Given the description of an element on the screen output the (x, y) to click on. 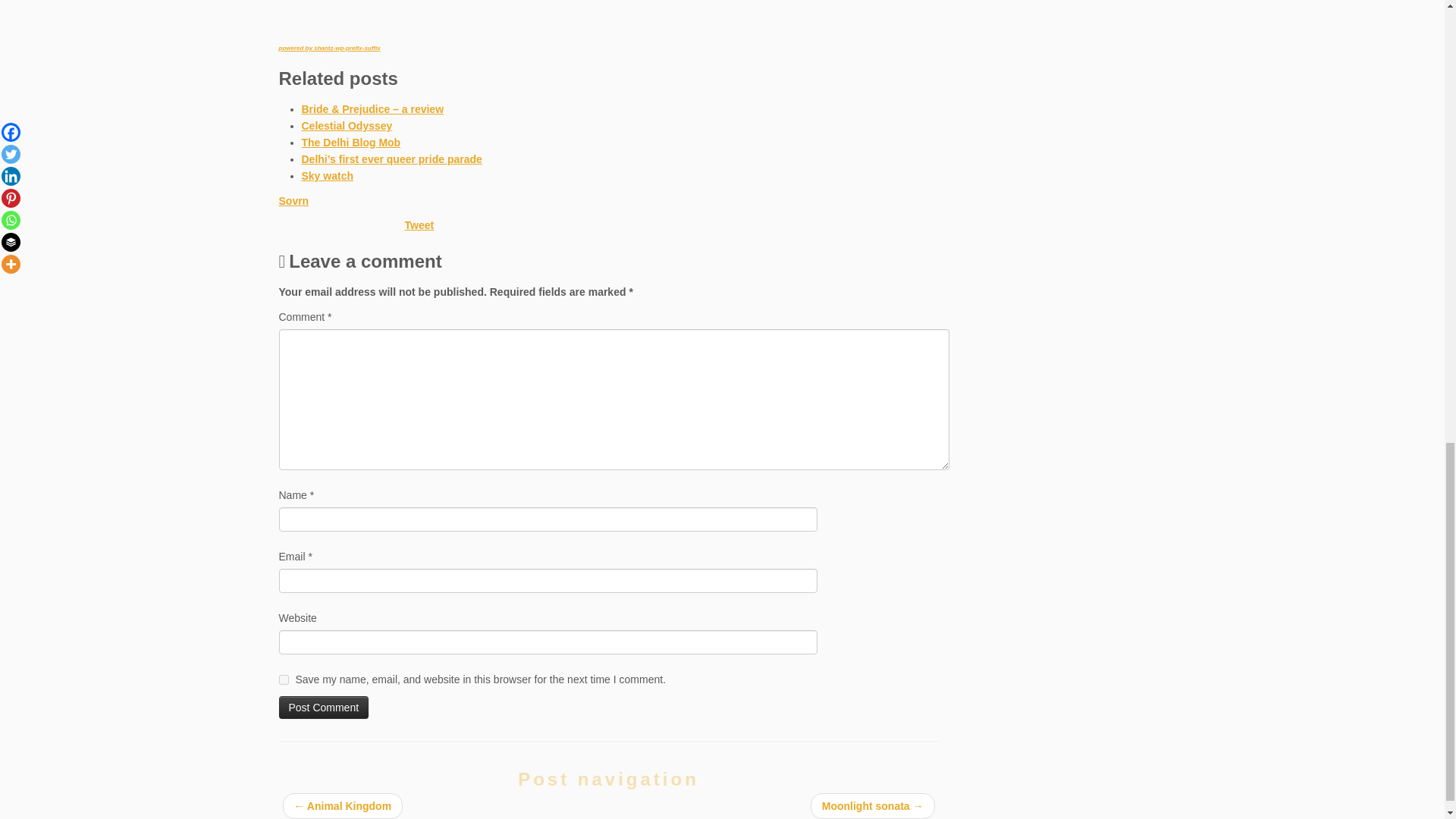
Sky watch (327, 175)
Sovrn (293, 200)
powered by shantz-wp-prefix-suffix (329, 48)
yes (283, 679)
The Delhi Blog Mob (351, 142)
Celestial Odyssey (347, 125)
Tweet (418, 224)
Post Comment (324, 707)
